Given the description of an element on the screen output the (x, y) to click on. 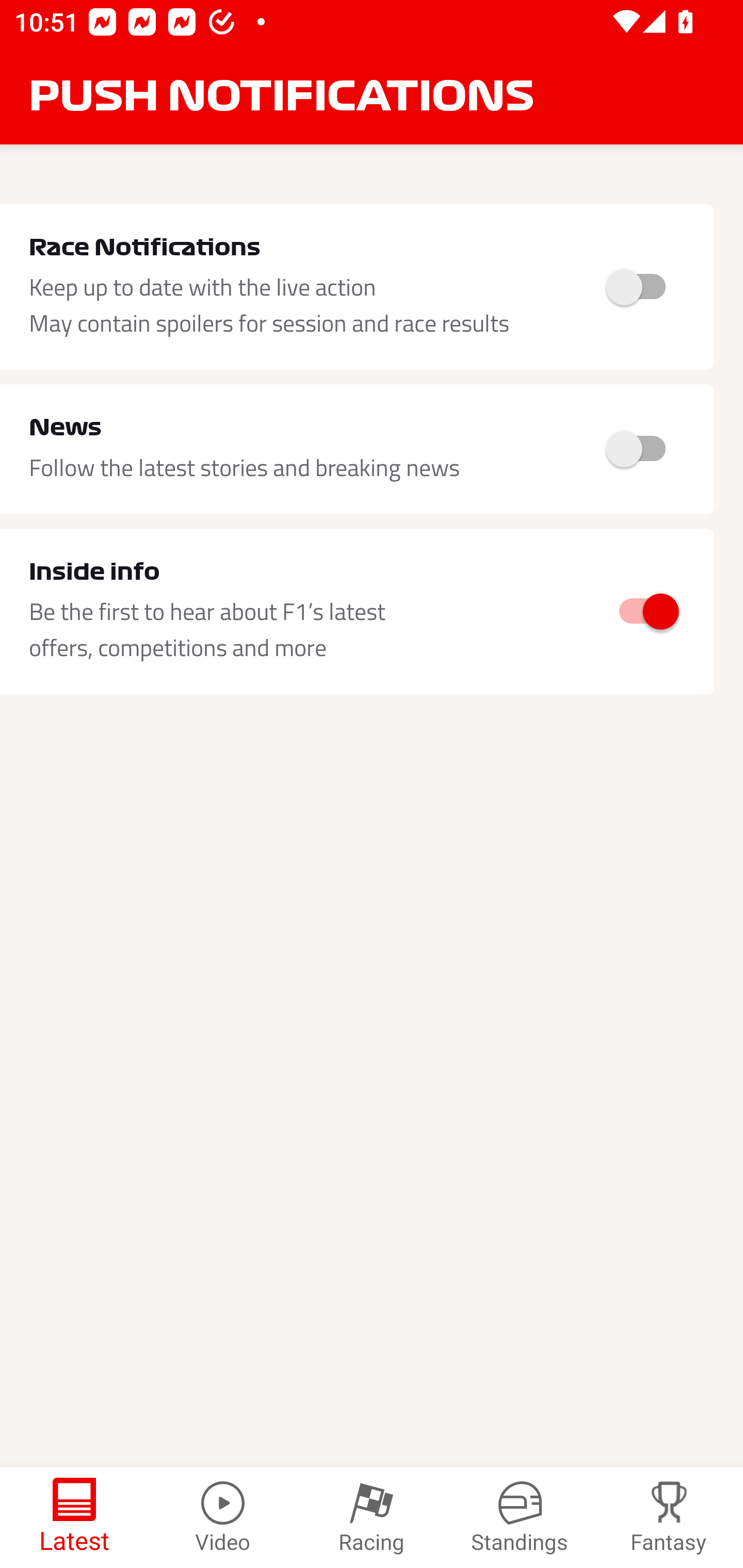
Video (222, 1517)
Racing (371, 1517)
Standings (519, 1517)
Fantasy (668, 1517)
